Given the description of an element on the screen output the (x, y) to click on. 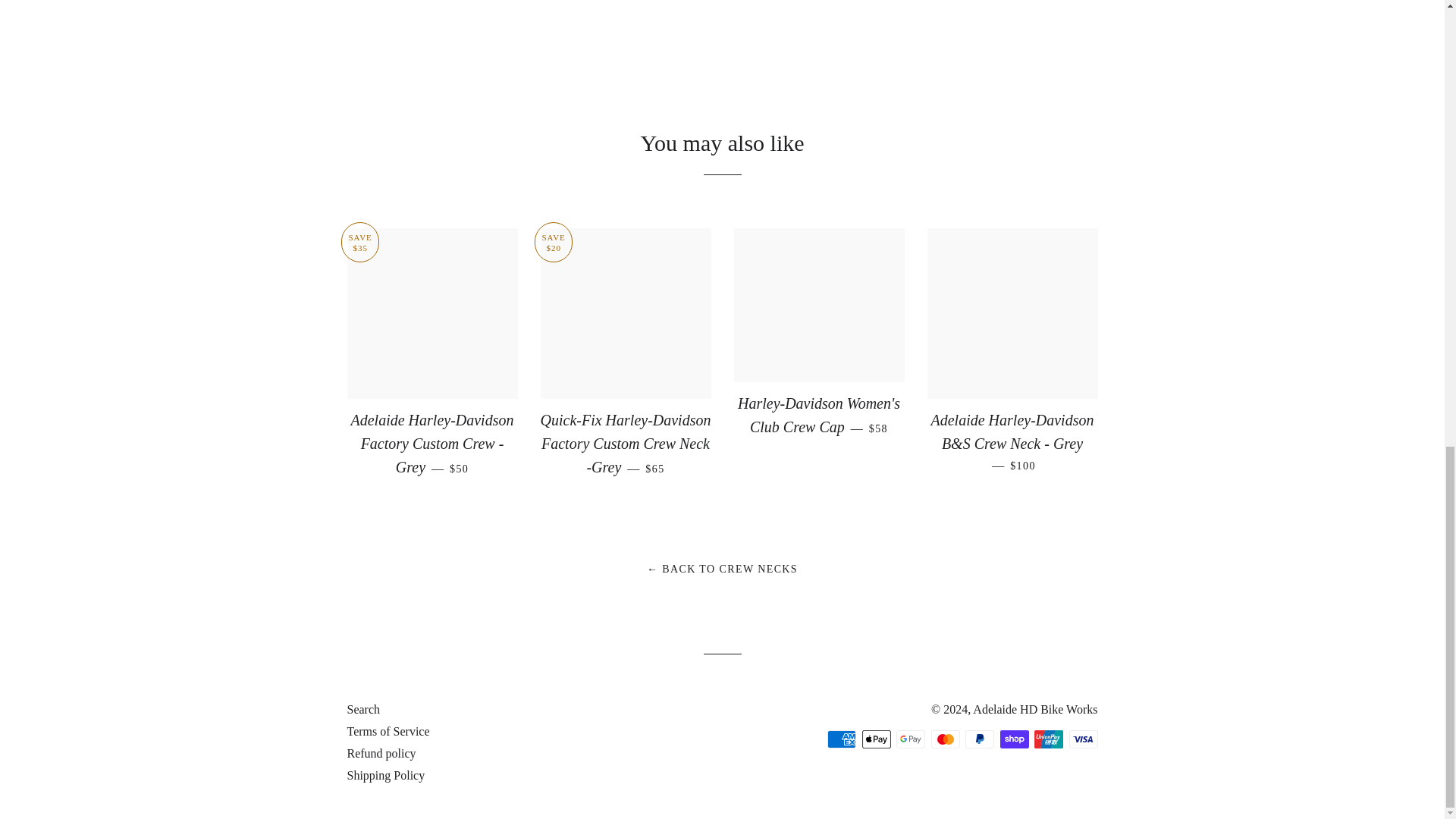
Apple Pay (875, 739)
Google Pay (910, 739)
American Express (841, 739)
Visa (1082, 739)
Shop Pay (1012, 739)
Mastercard (945, 739)
PayPal (979, 739)
Union Pay (1047, 739)
